Given the description of an element on the screen output the (x, y) to click on. 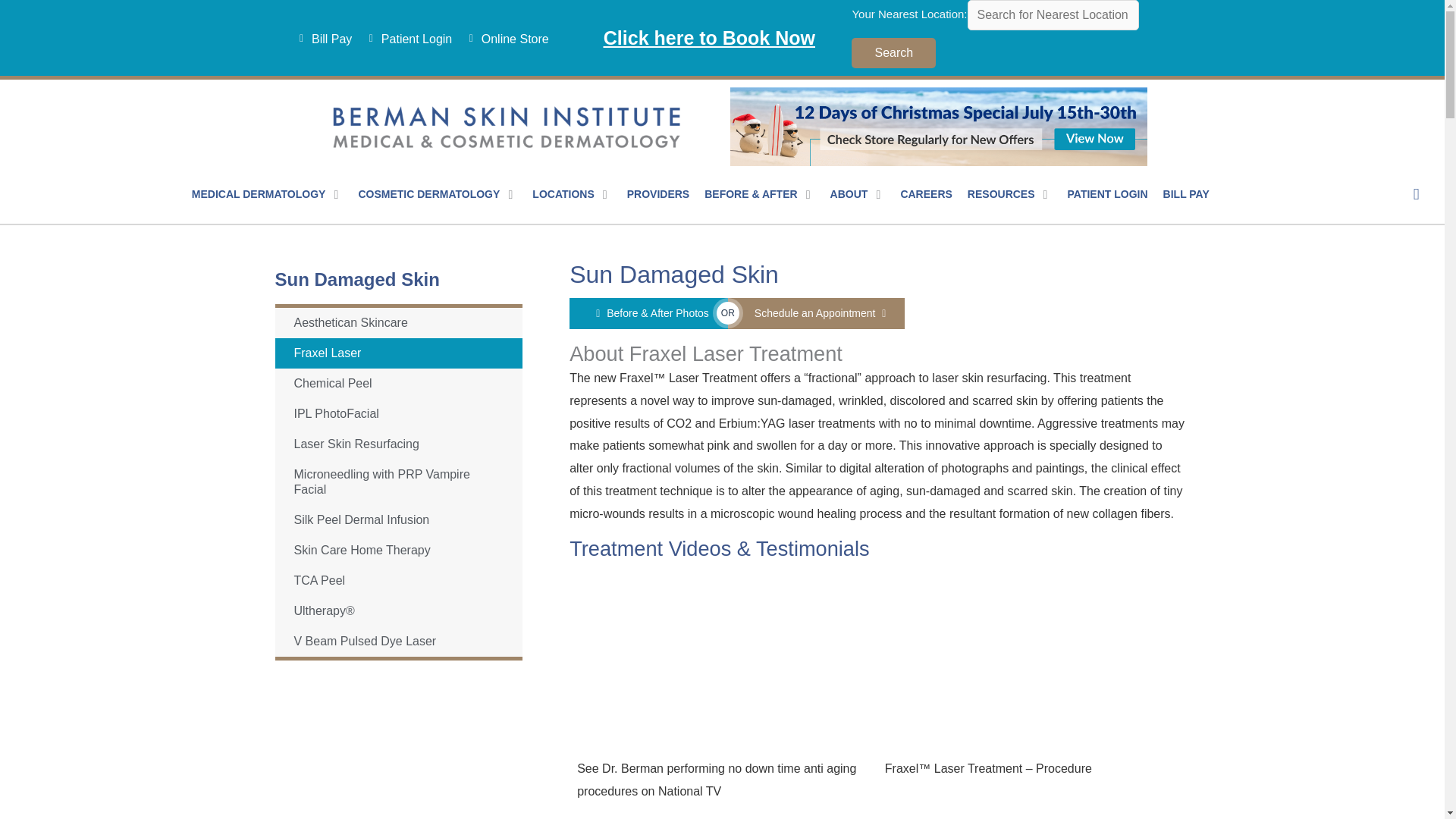
Click here to Book Now (709, 37)
COSMETIC DERMATOLOGY (428, 194)
MEDICAL DERMATOLOGY (259, 194)
Online Store (504, 38)
Patient Login (405, 38)
Search (893, 52)
Bill Pay (320, 38)
